Given the description of an element on the screen output the (x, y) to click on. 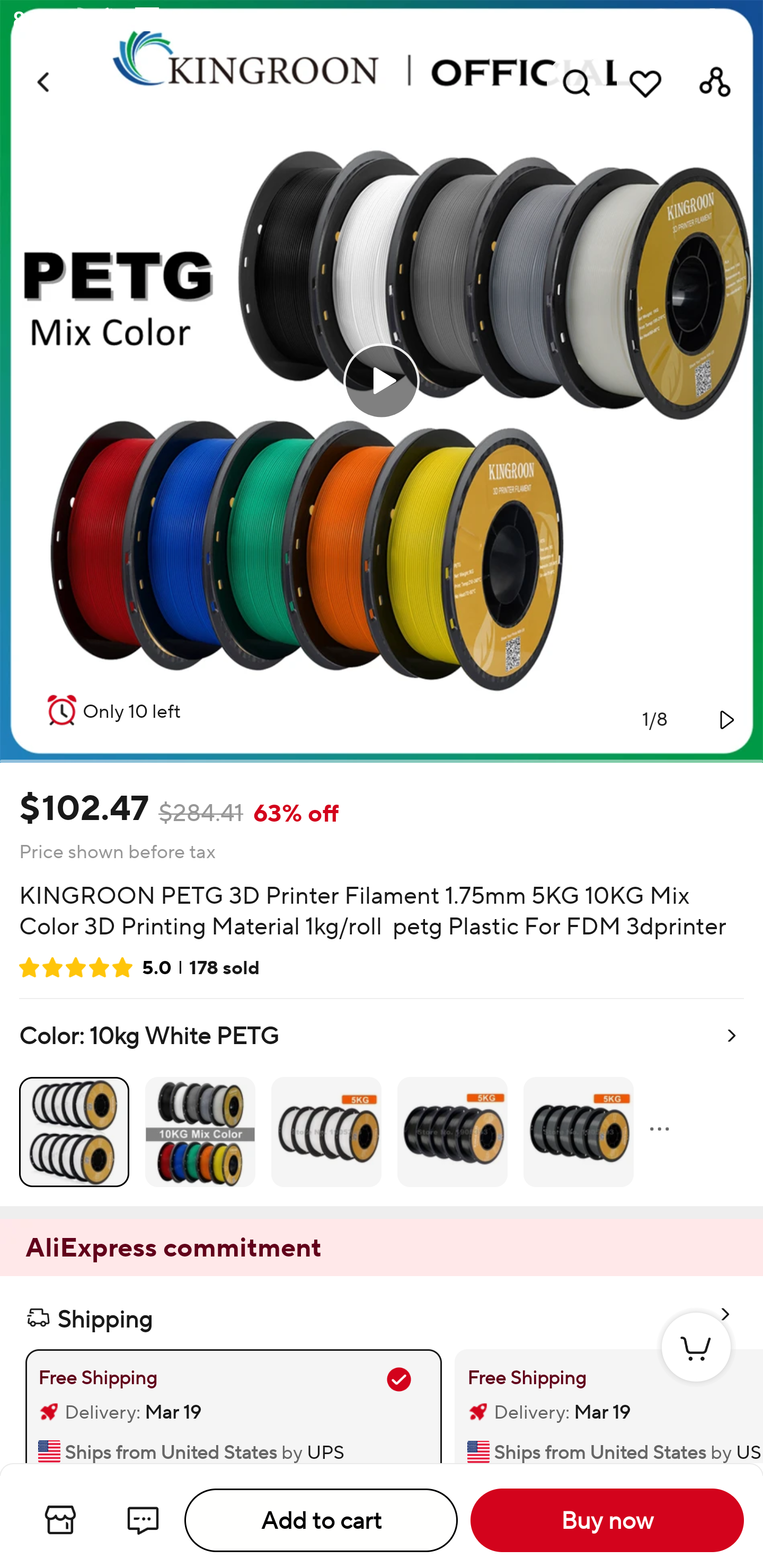
0.0 (381, 381)
Navigate up (44, 82)
 (724, 719)
Color: 10kg White PETG  (381, 1101)
Add to cart (320, 1520)
Buy now (606, 1520)
